Given the description of an element on the screen output the (x, y) to click on. 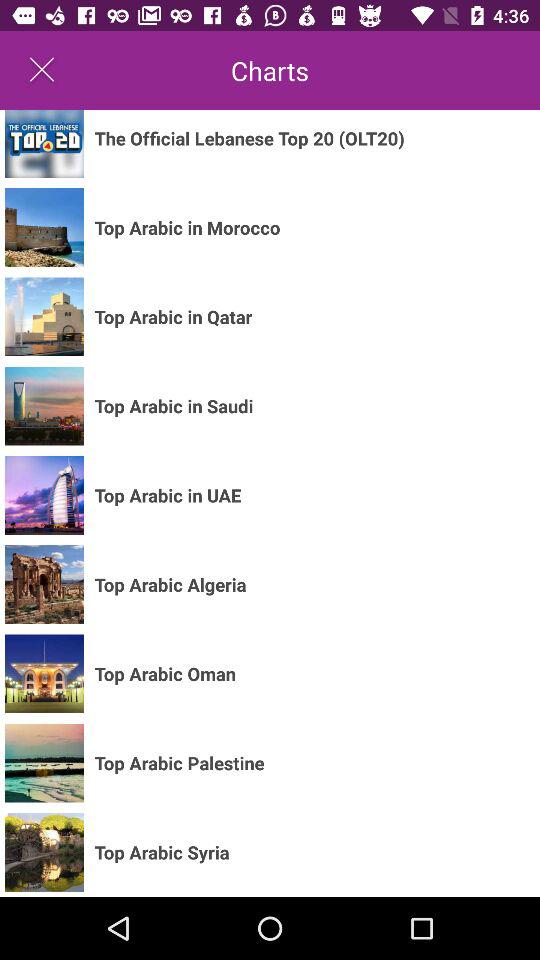
click the item to the left of the charts (42, 70)
